Given the description of an element on the screen output the (x, y) to click on. 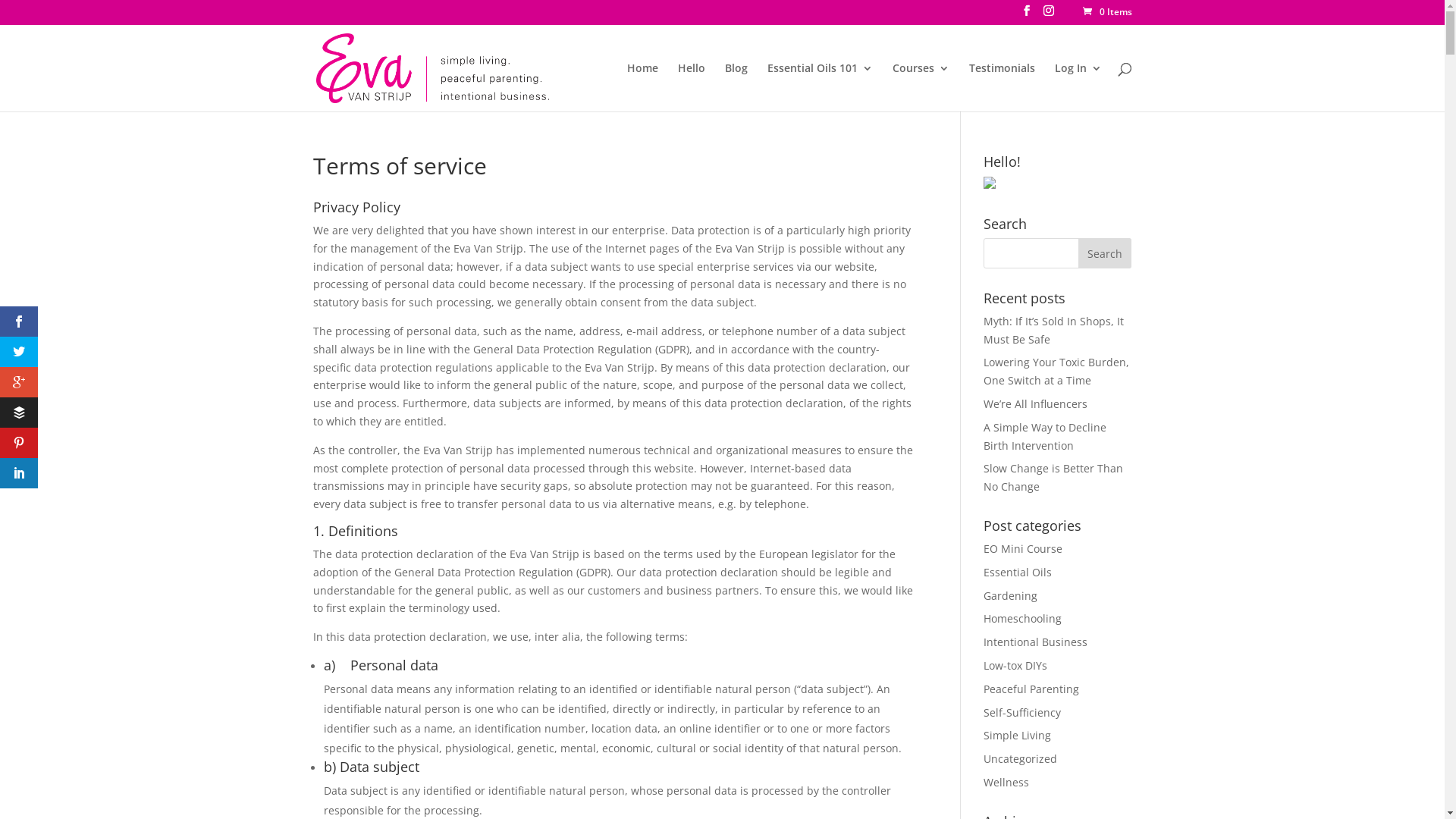
Homeschooling Element type: text (1022, 618)
Slow Change is Better Than No Change Element type: text (1053, 477)
Essential Oils 101 Element type: text (819, 86)
A Simple Way to Decline Birth Intervention Element type: text (1044, 436)
Lowering Your Toxic Burden, One Switch at a Time Element type: text (1056, 370)
Peaceful Parenting Element type: text (1031, 688)
EO Mini Course Element type: text (1022, 548)
Search Element type: text (1104, 253)
Simple Living Element type: text (1017, 735)
Blog Element type: text (735, 86)
Courses Element type: text (919, 86)
0 Items Element type: text (1105, 11)
Log In Element type: text (1077, 86)
Intentional Business Element type: text (1035, 641)
Uncategorized Element type: text (1020, 758)
Testimonials Element type: text (1002, 86)
Home Element type: text (641, 86)
Self-Sufficiency Element type: text (1021, 712)
Essential Oils Element type: text (1017, 571)
Low-tox DIYs Element type: text (1015, 665)
Gardening Element type: text (1010, 595)
Wellness Element type: text (1006, 782)
Hello Element type: text (691, 86)
